Given the description of an element on the screen output the (x, y) to click on. 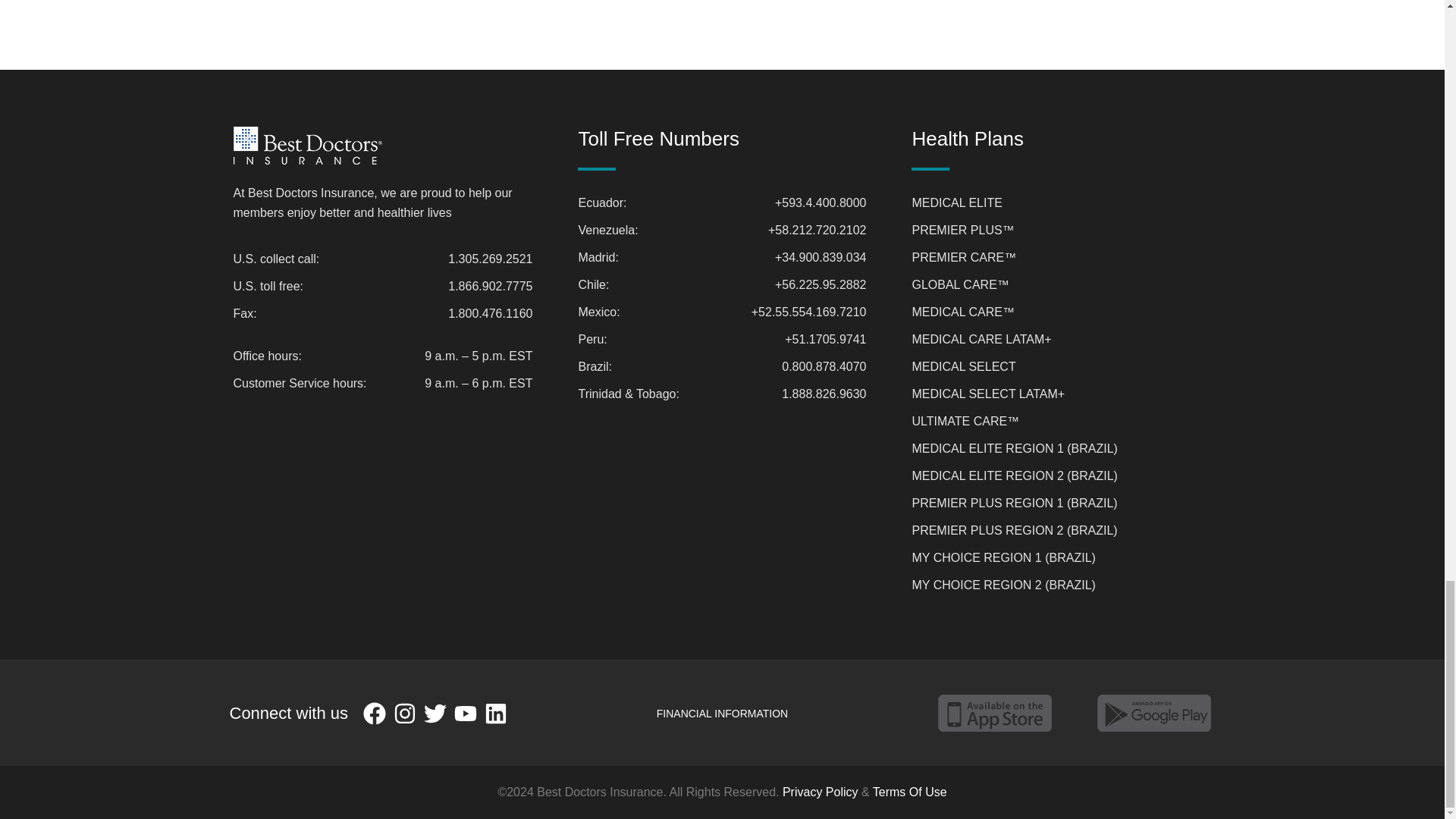
1.866.902.7775 (490, 286)
1.305.269.2521 (490, 259)
1.800.476.1160 (490, 313)
